Given the description of an element on the screen output the (x, y) to click on. 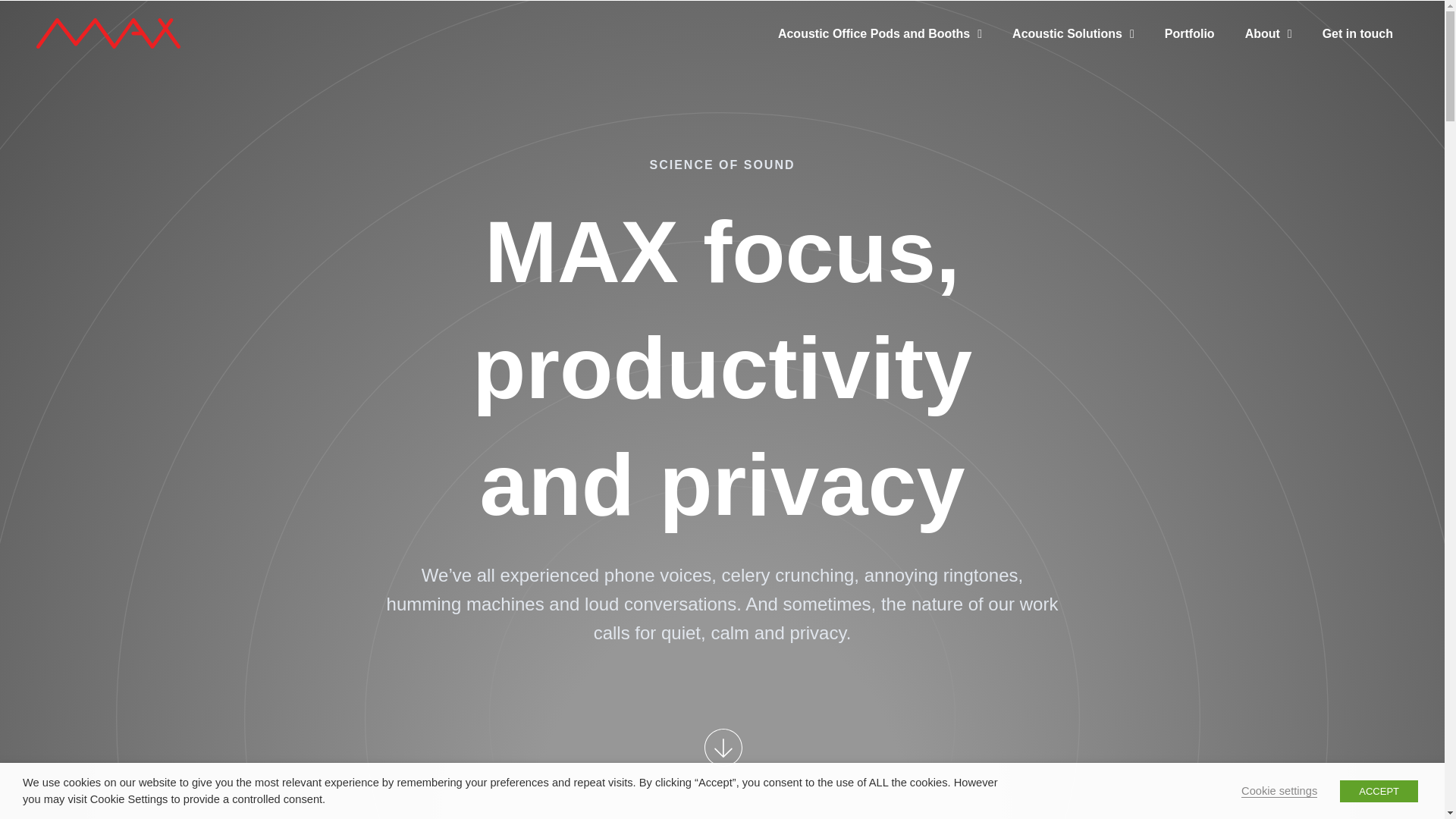
Portfolio (1190, 47)
Acoustic Office Pods and Booths (879, 47)
About (1268, 47)
Acoustic Solutions (1073, 47)
Get in touch (1357, 47)
